Given the description of an element on the screen output the (x, y) to click on. 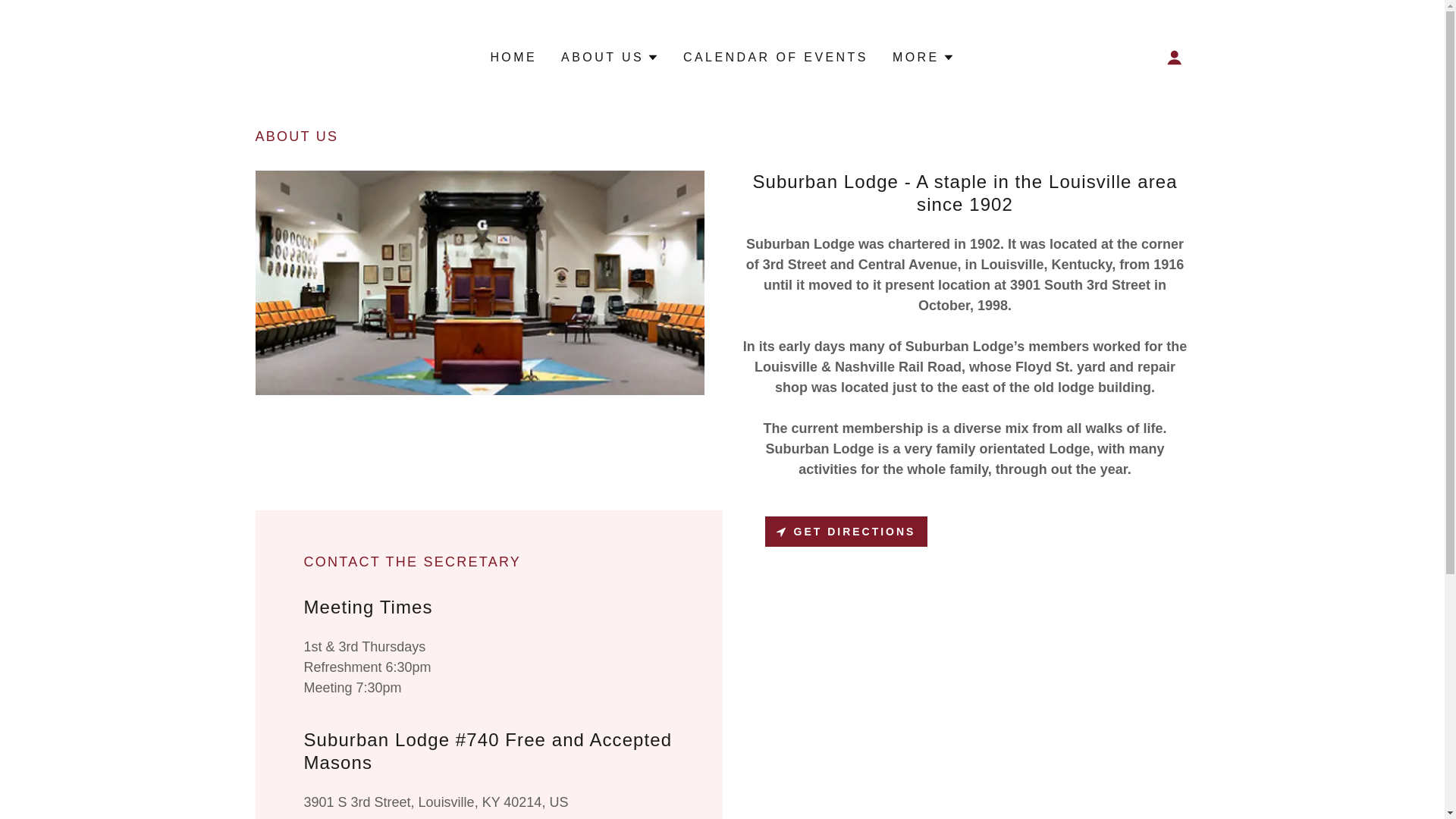
MORE (923, 57)
ABOUT US (609, 57)
HOME (512, 57)
CALENDAR OF EVENTS (775, 57)
